Given the description of an element on the screen output the (x, y) to click on. 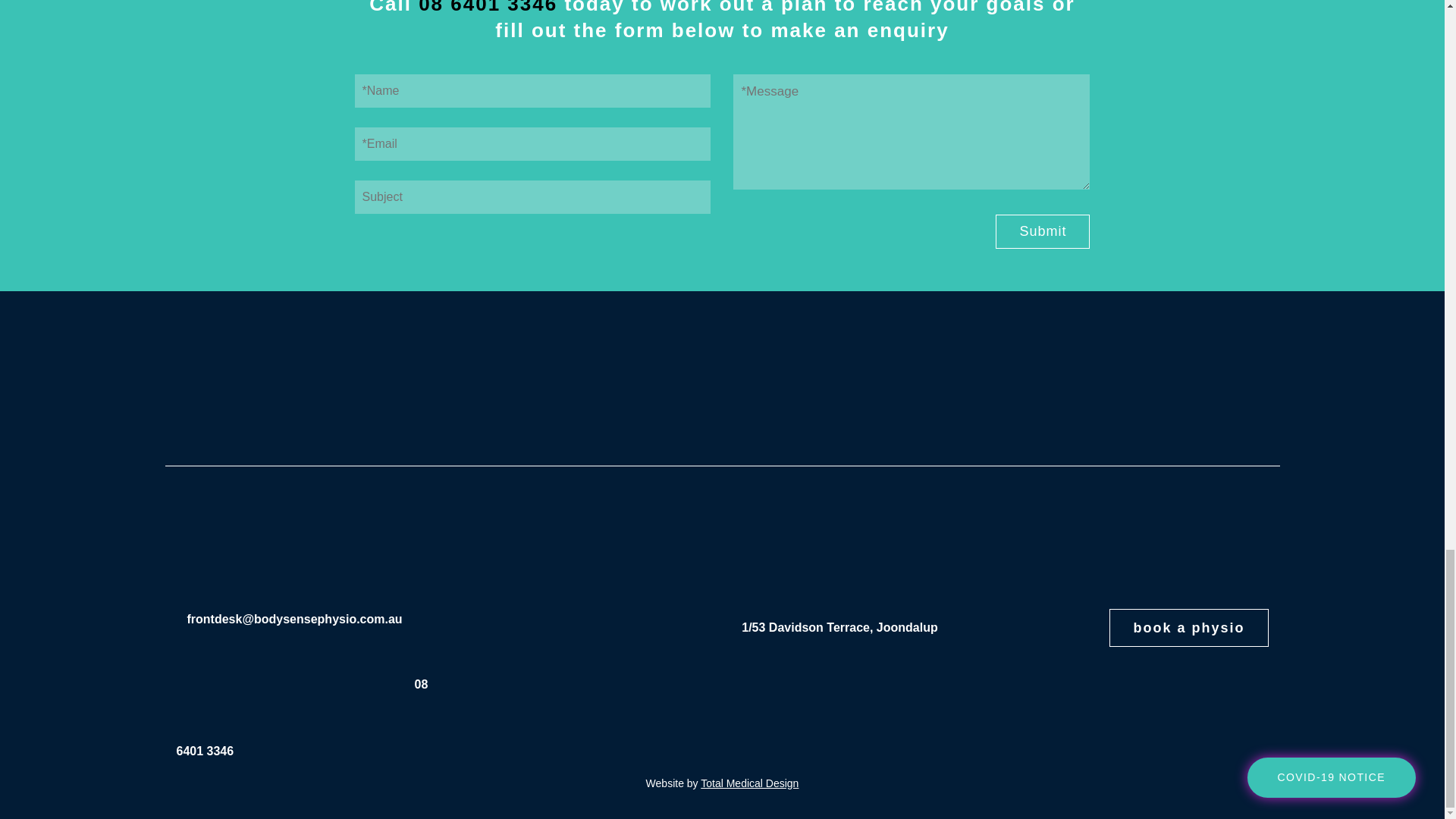
Submit (1042, 231)
Submit (1042, 231)
08 6401 3346 (488, 7)
